Given the description of an element on the screen output the (x, y) to click on. 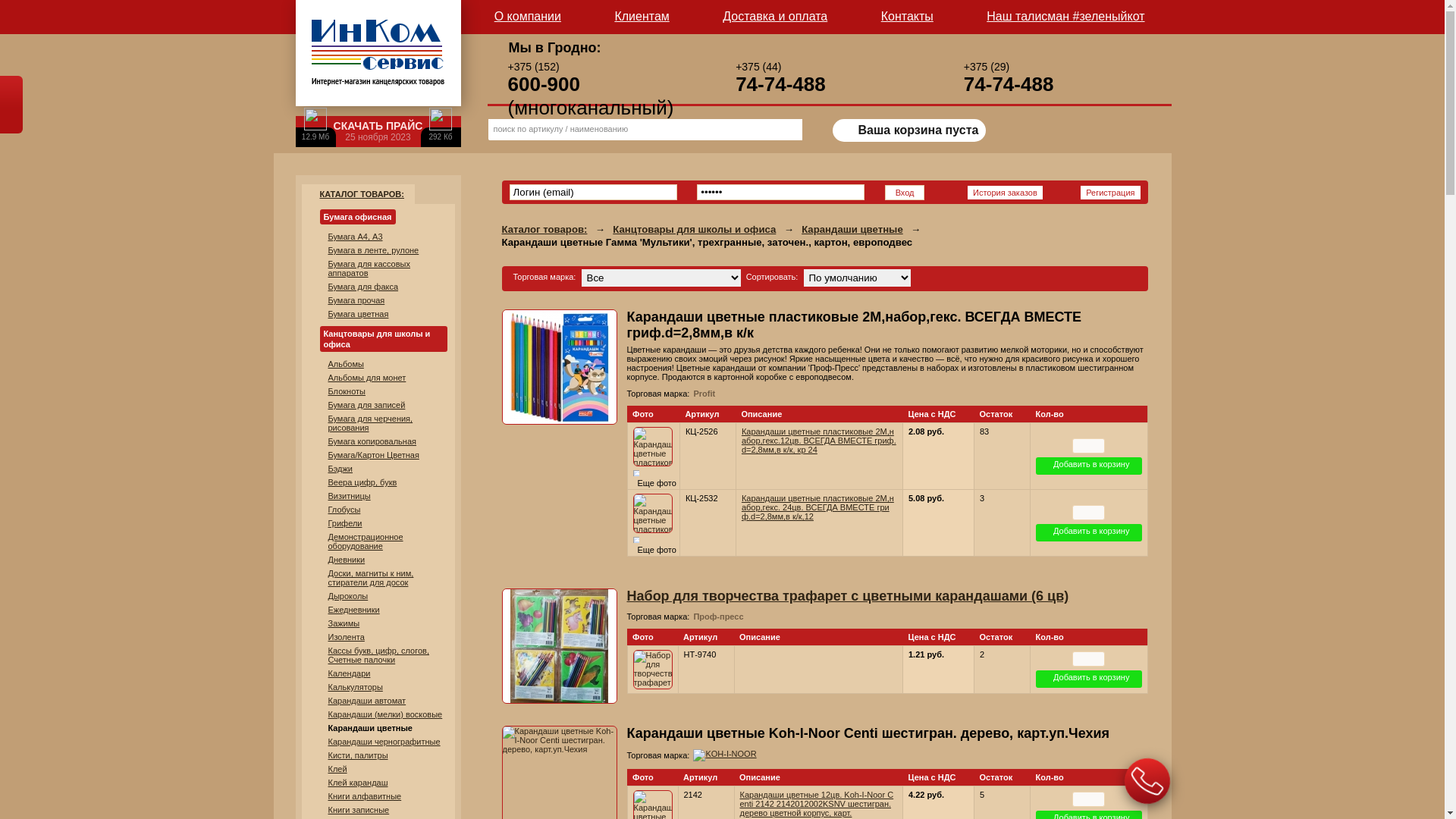
LiveJournal Element type: hover (1134, 244)
KOH-I-NOOR Element type: hover (724, 753)
Twitter Element type: hover (1102, 244)
Facebook Element type: hover (1086, 244)
